Given the description of an element on the screen output the (x, y) to click on. 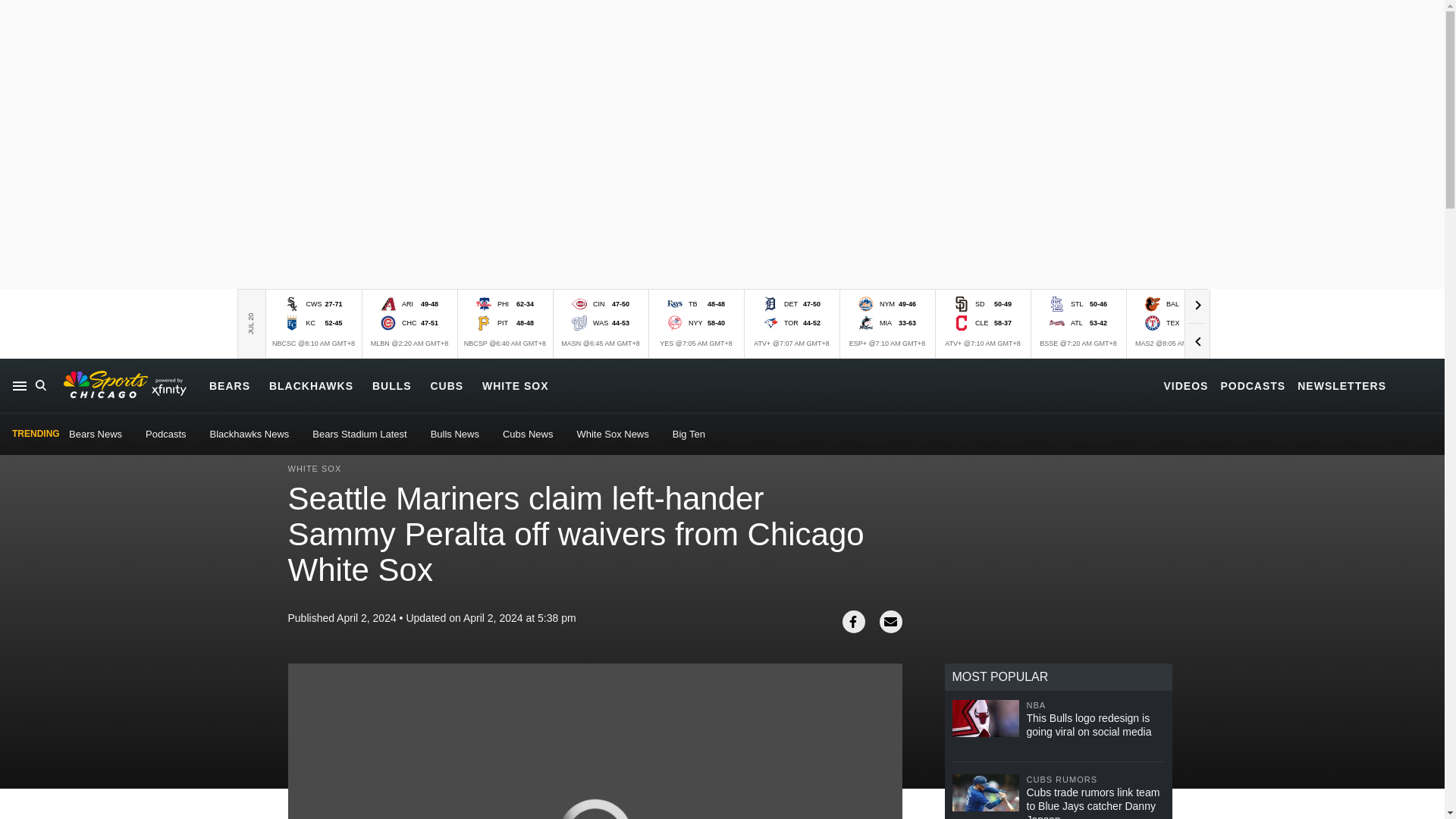
VIDEOS (1185, 385)
CUBS (446, 385)
NEWSLETTERS (1341, 385)
Podcasts (165, 433)
Cubs News (527, 433)
BULLS (392, 385)
BEARS (229, 385)
PODCASTS (1252, 385)
Bears News (95, 433)
Bulls News (454, 433)
WHITE SOX (315, 469)
White Sox News (611, 433)
WHITE SOX (514, 385)
Blackhawks News (249, 433)
Big Ten (688, 433)
